Given the description of an element on the screen output the (x, y) to click on. 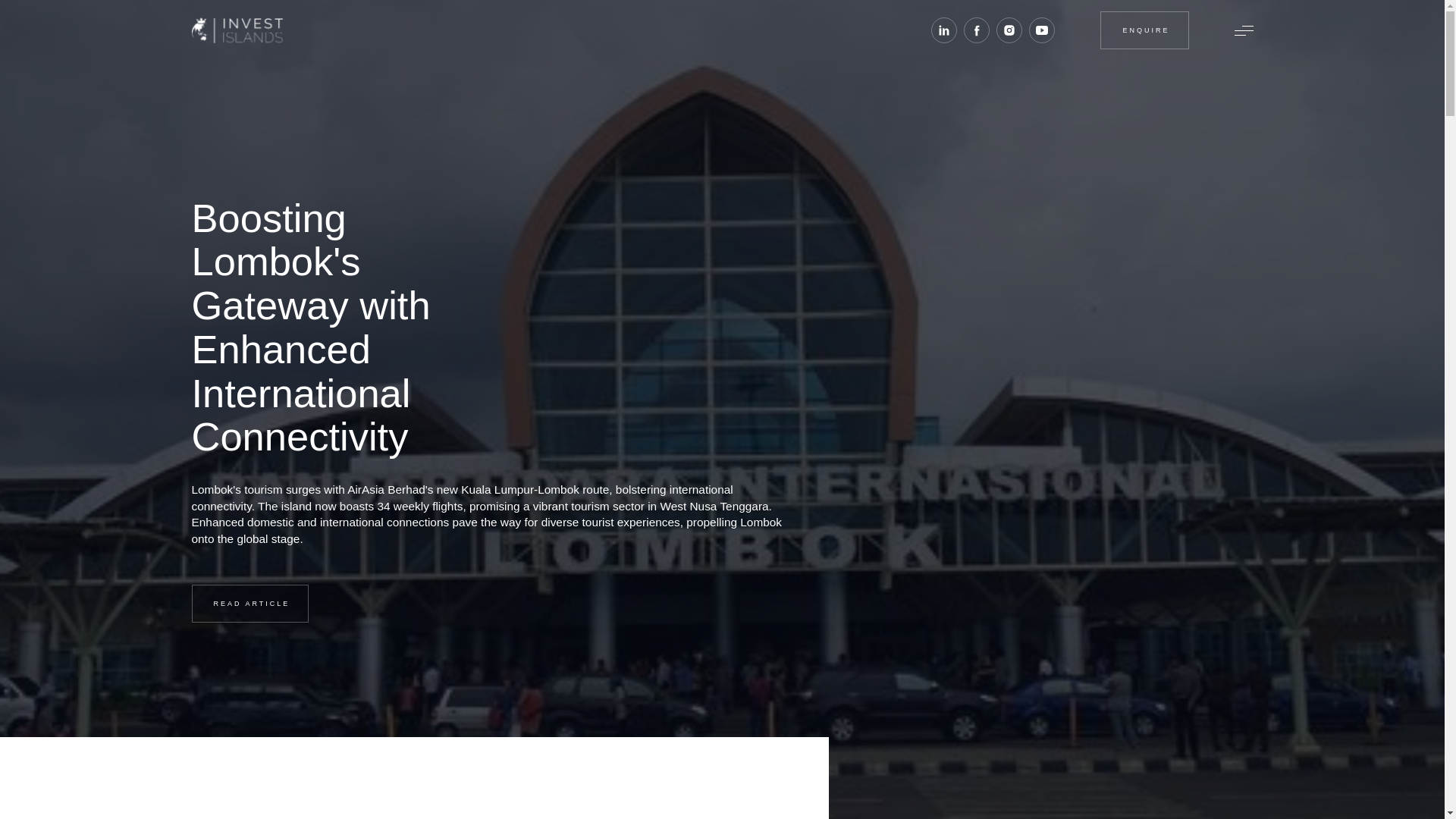
ENQUIRE (1144, 30)
READ ARTICLE (249, 603)
